Given the description of an element on the screen output the (x, y) to click on. 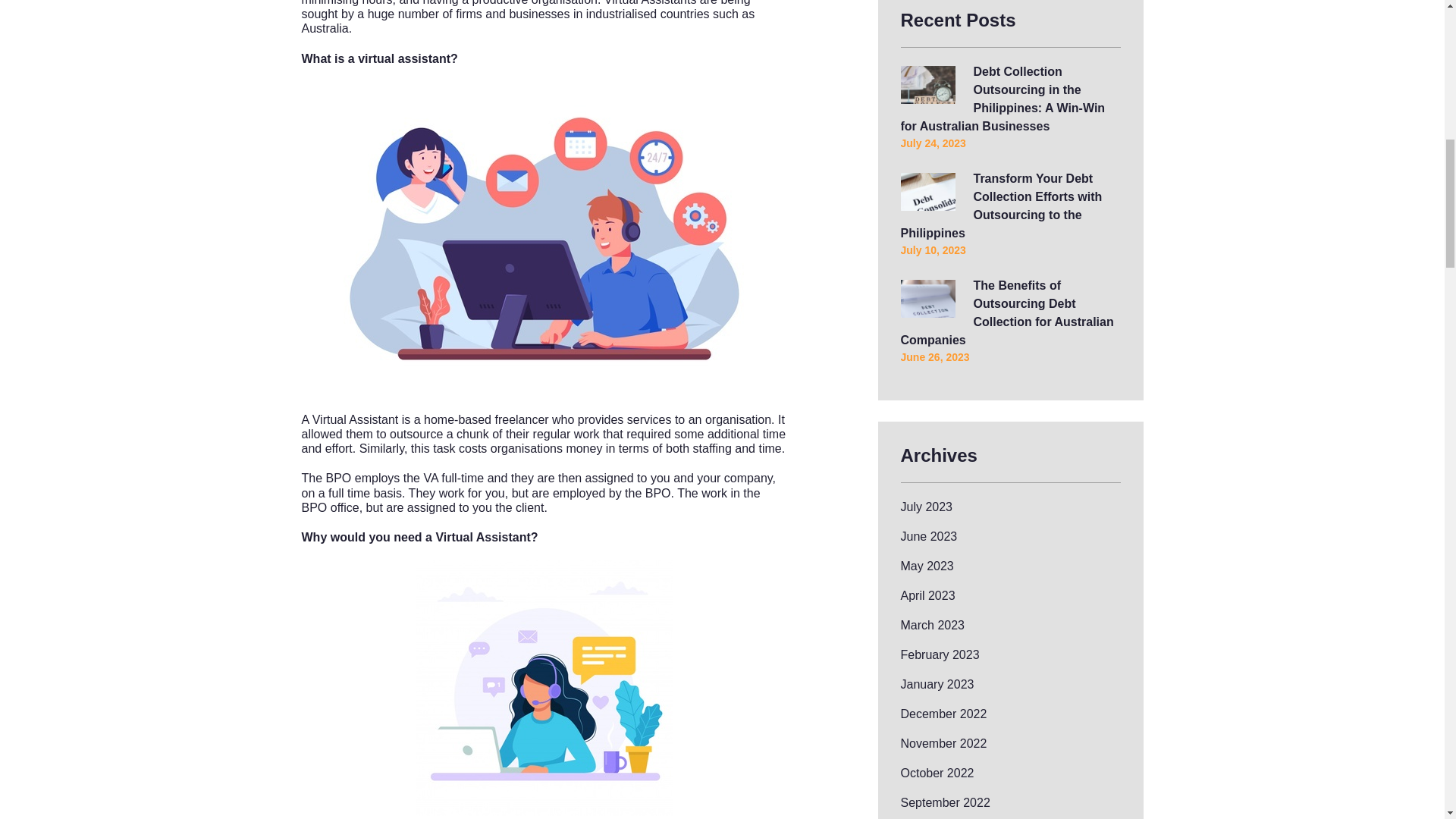
January 2023 (937, 684)
May 2023 (927, 565)
July 2023 (927, 506)
March 2023 (933, 625)
February 2023 (940, 654)
December 2022 (944, 713)
April 2023 (928, 594)
June 2023 (929, 535)
